Given the description of an element on the screen output the (x, y) to click on. 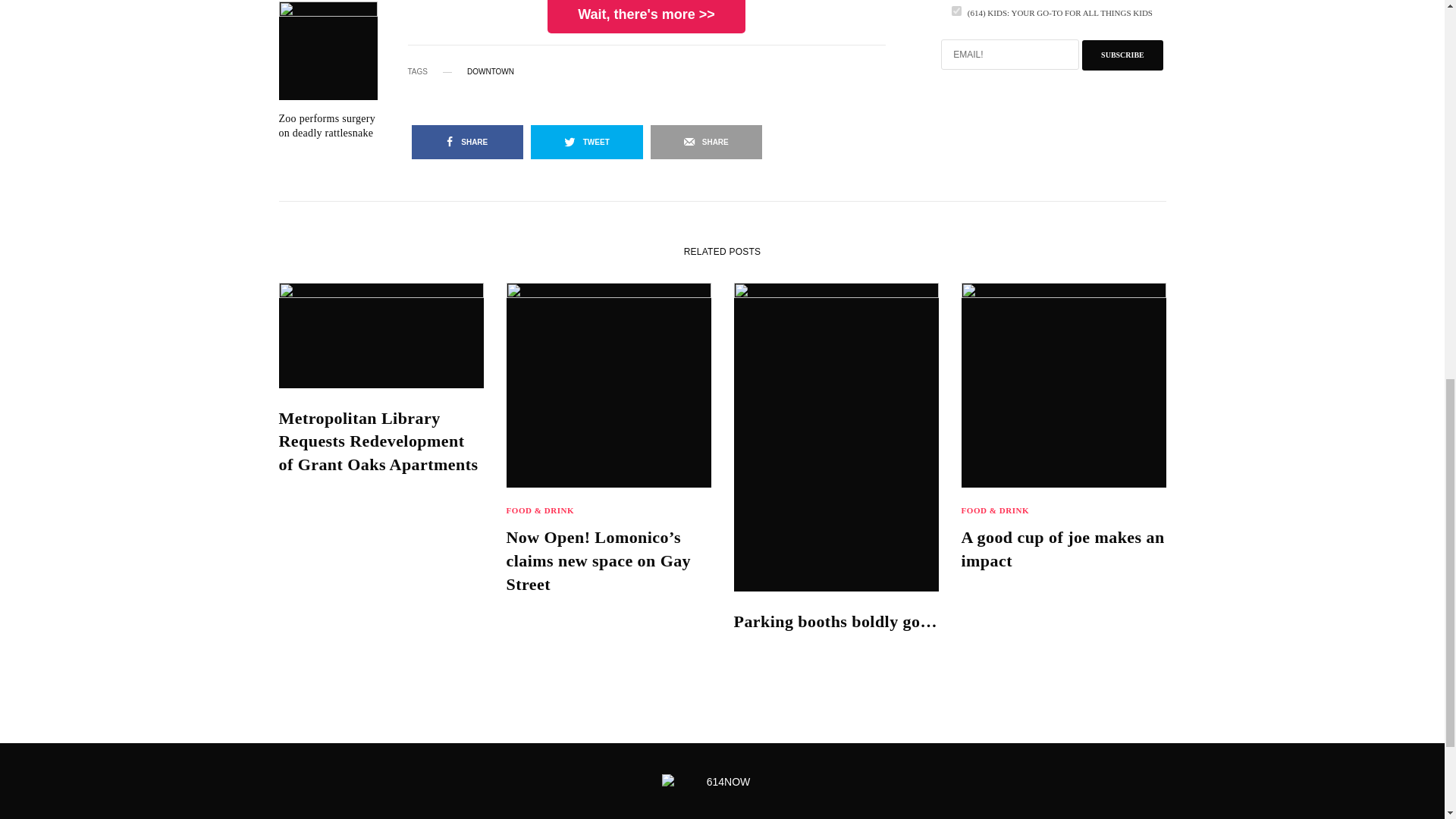
A good cup of joe makes an impact (1063, 549)
The sky is falling? Debris falling off downtown building? (328, 34)
614NOW (722, 781)
47d60d12c6 (956, 10)
Subscribe (1122, 55)
